Given the description of an element on the screen output the (x, y) to click on. 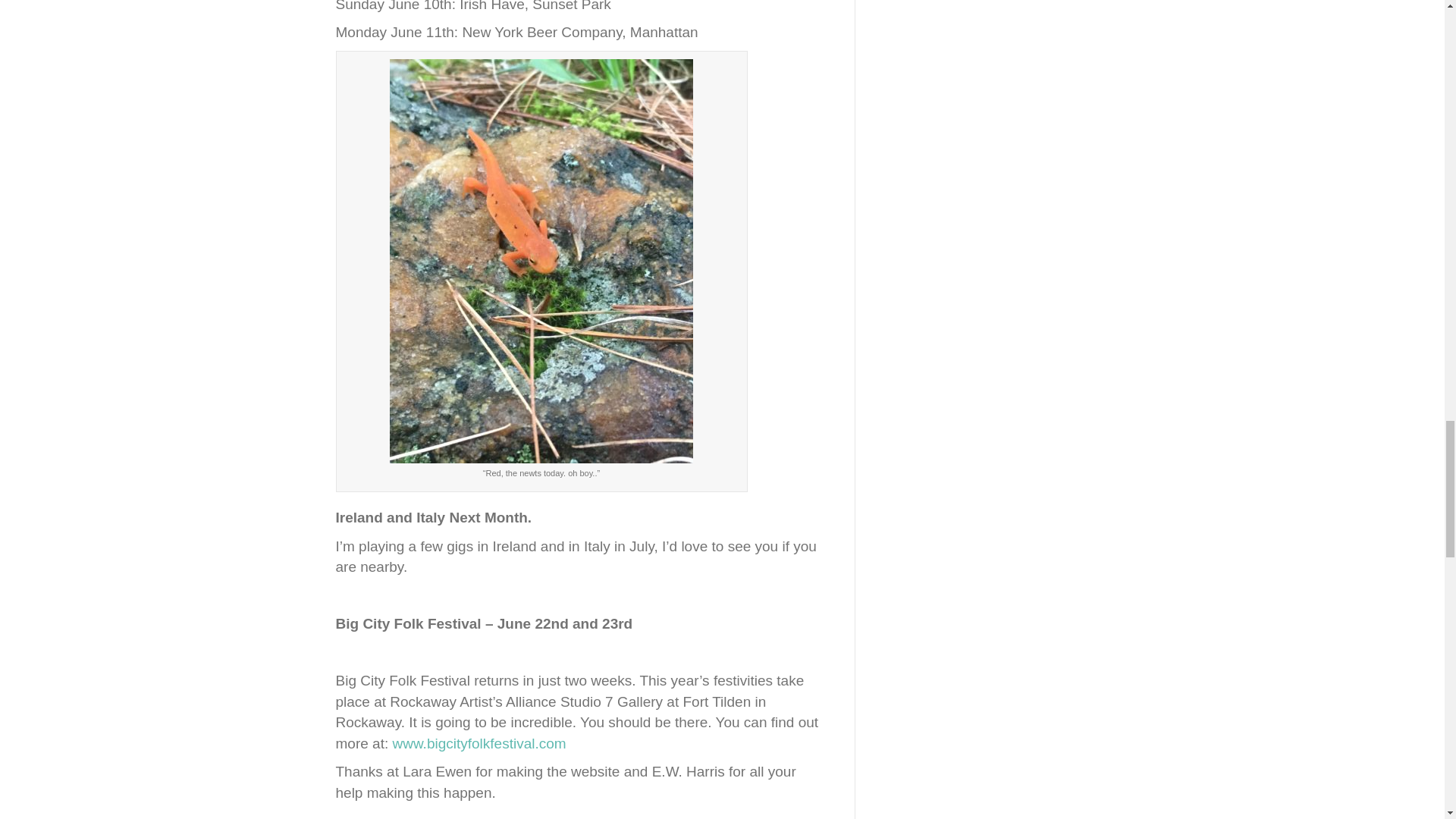
www.bigcityfolkfestival.com (478, 743)
